Given the description of an element on the screen output the (x, y) to click on. 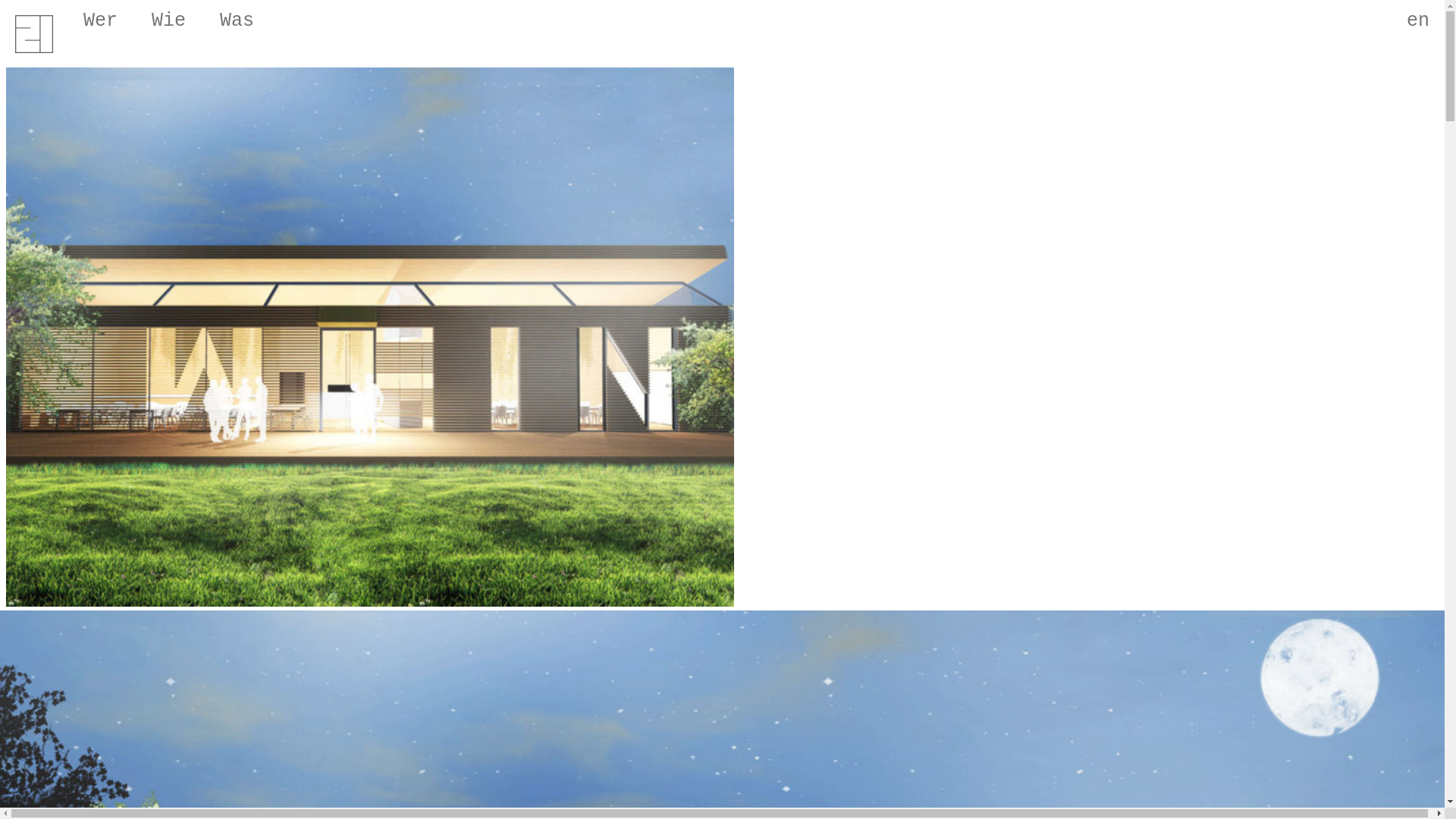
Was Element type: text (238, 17)
Wie Element type: text (170, 17)
Wer Element type: text (102, 17)
en Element type: text (1417, 17)
